Given the description of an element on the screen output the (x, y) to click on. 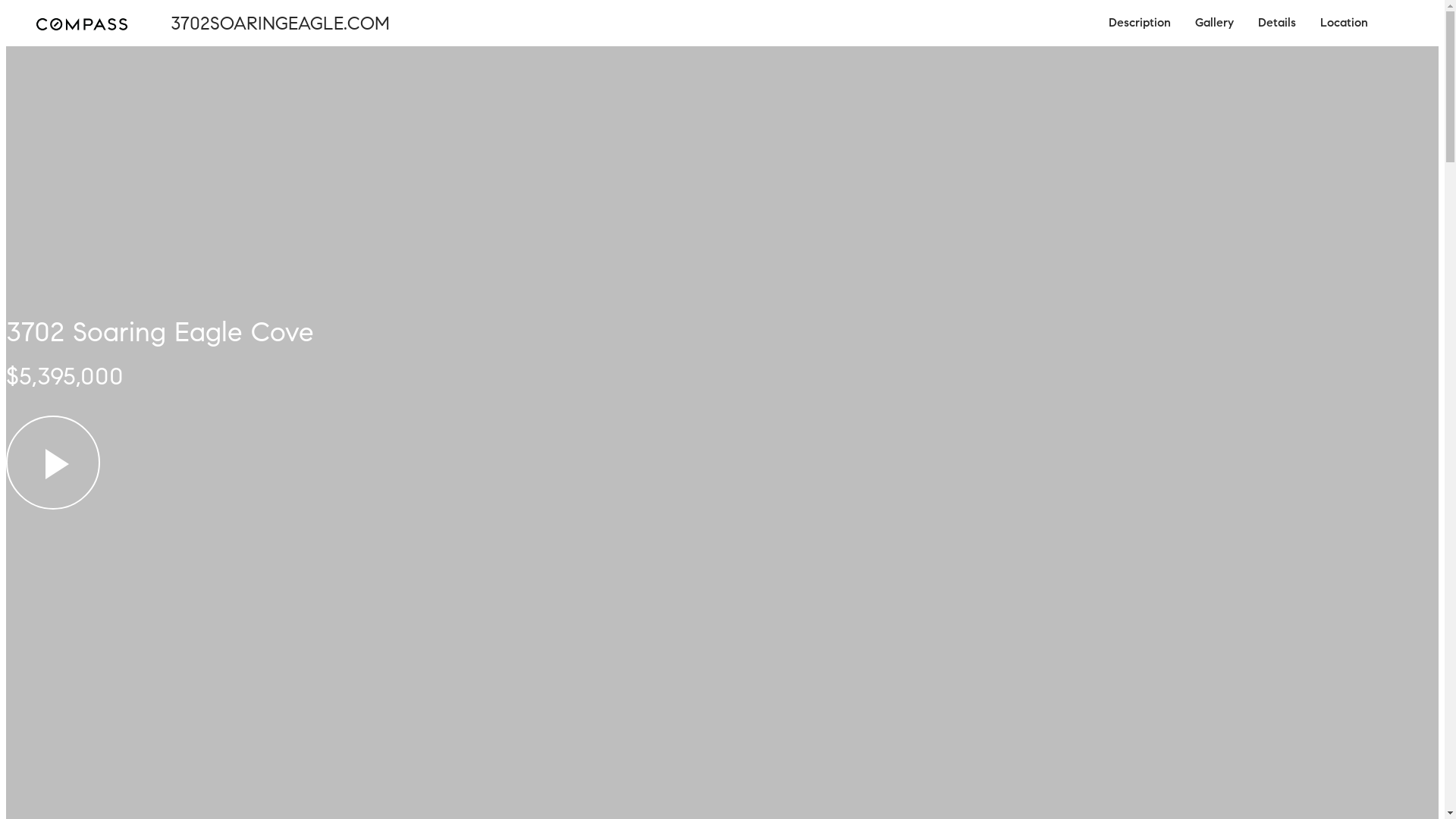
Description Element type: text (1139, 22)
Gallery Element type: text (1214, 22)
Location Element type: text (1344, 22)
3702SOARINGEAGLE.COM Element type: text (271, 22)
Details Element type: text (1276, 22)
